Given the description of an element on the screen output the (x, y) to click on. 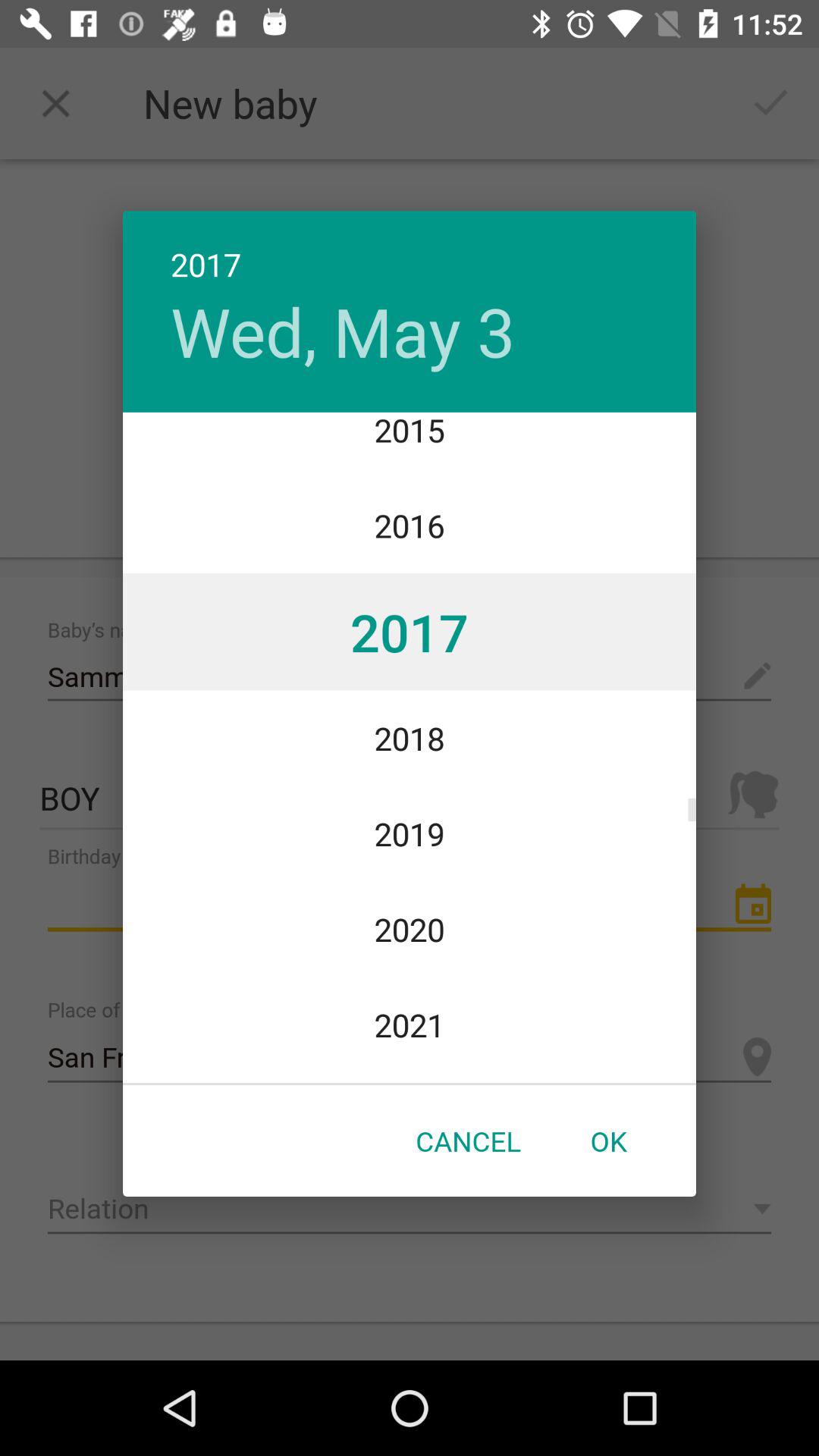
open cancel item (467, 1140)
